Given the description of an element on the screen output the (x, y) to click on. 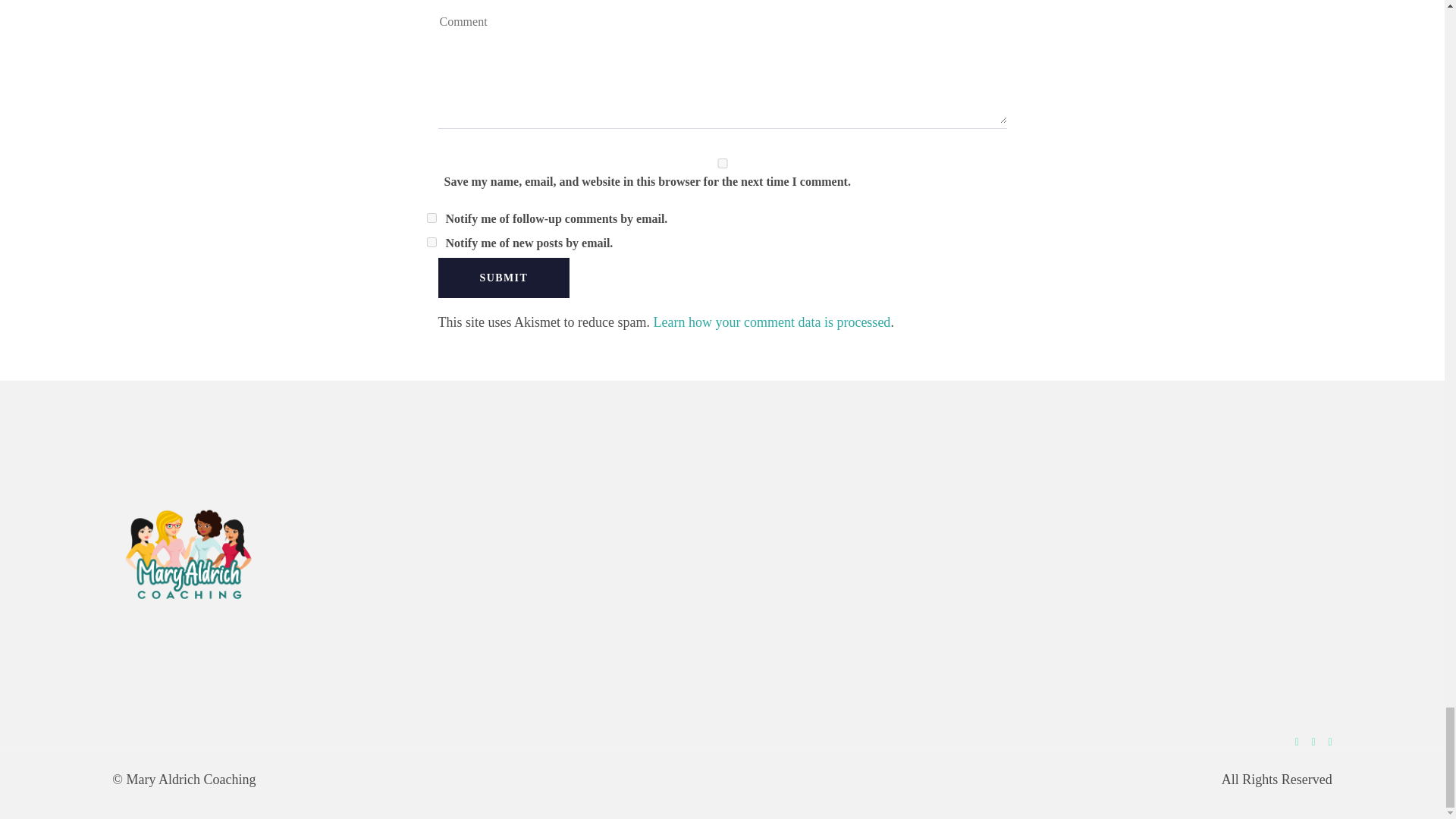
Submit (504, 277)
LOGO-01 (1275, 452)
subscribe (430, 217)
yes (722, 163)
subscribe (430, 242)
